Given the description of an element on the screen output the (x, y) to click on. 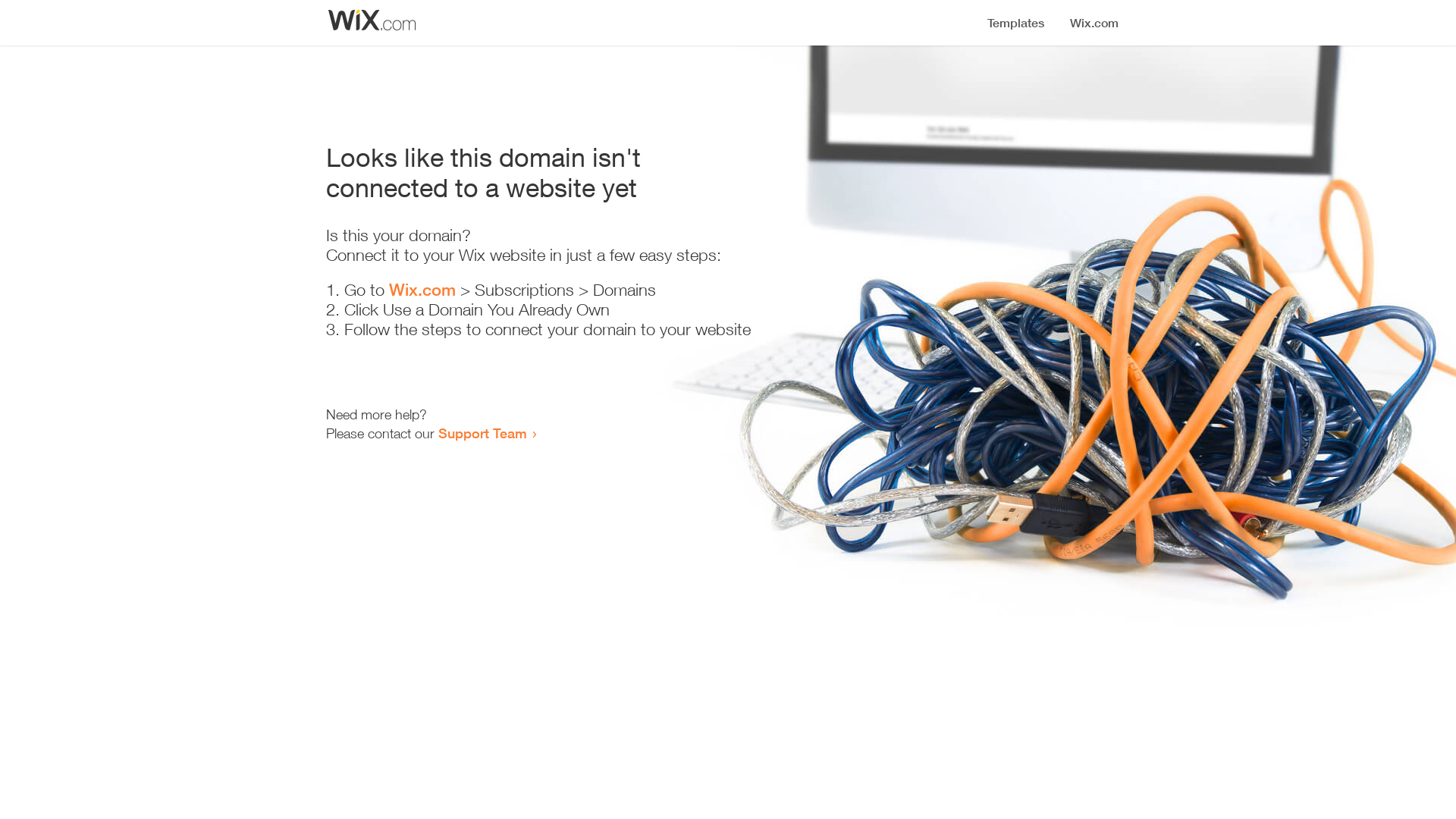
Support Team Element type: text (482, 432)
Wix.com Element type: text (422, 289)
